Given the description of an element on the screen output the (x, y) to click on. 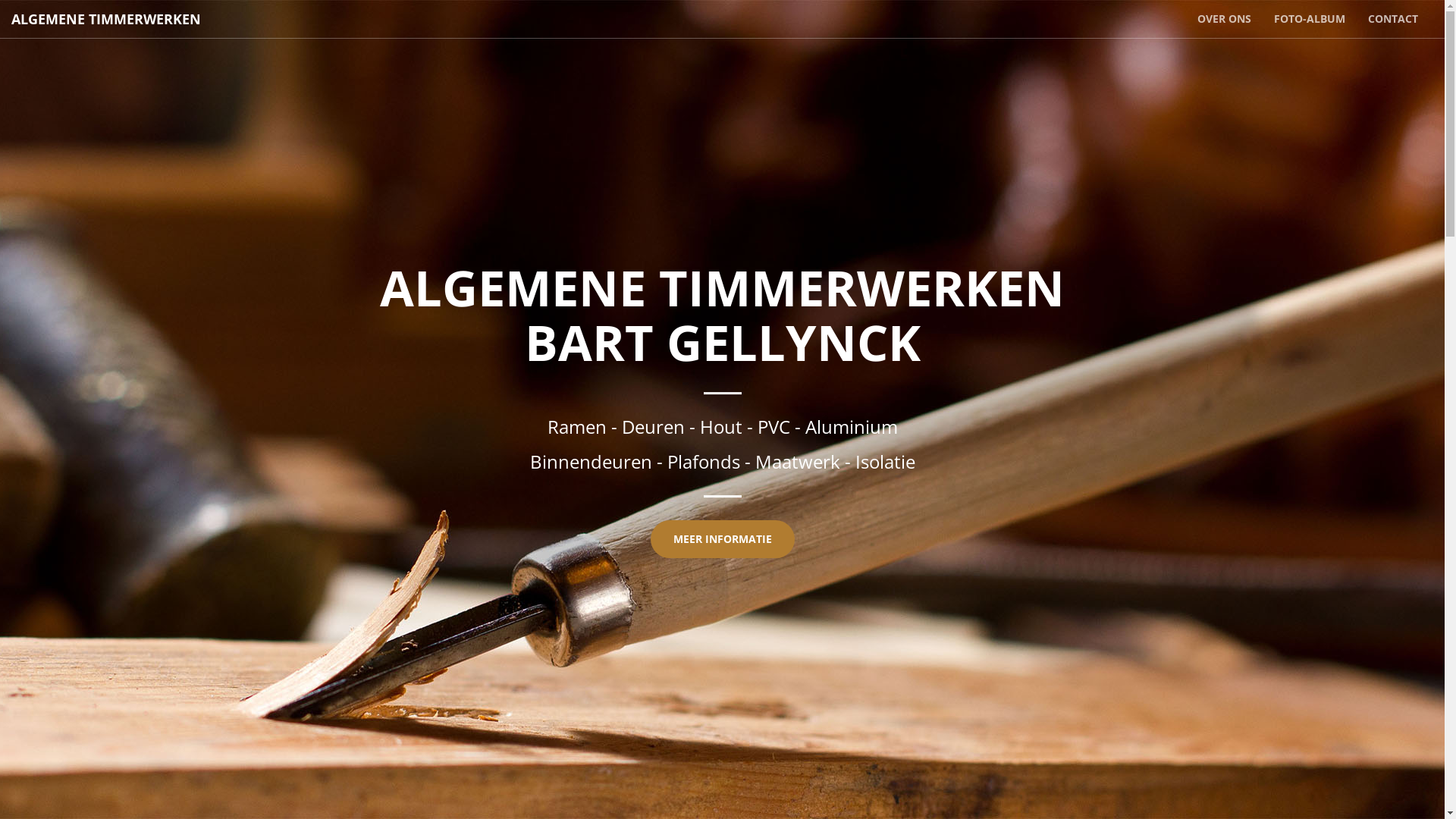
MEER INFORMATIE Element type: text (722, 539)
ALGEMENE TIMMERWERKEN Element type: text (106, 18)
FOTO-ALBUM Element type: text (1309, 18)
OVER ONS Element type: text (1224, 18)
CONTACT Element type: text (1392, 18)
